Given the description of an element on the screen output the (x, y) to click on. 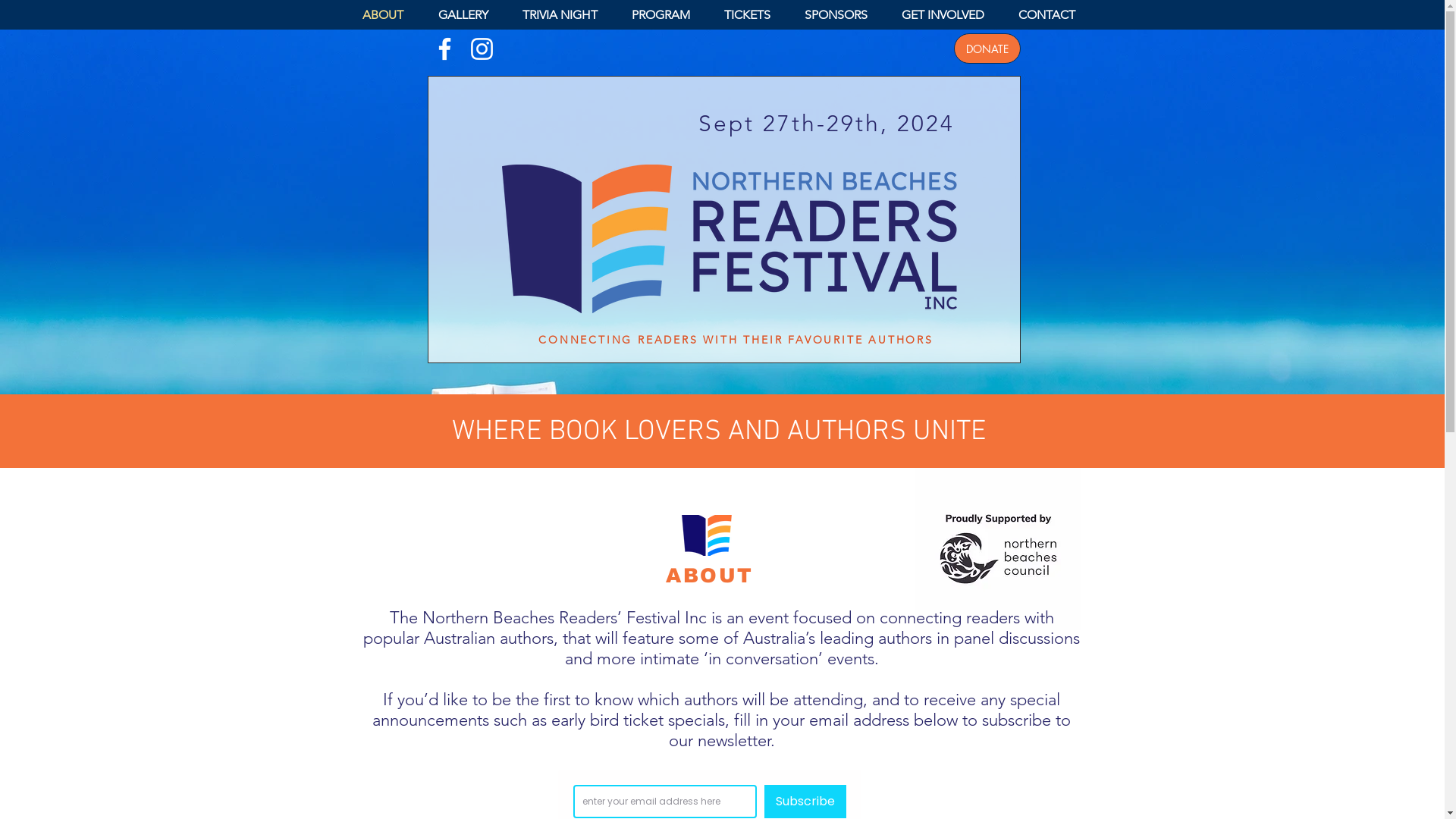
GALLERY Element type: text (468, 14)
GET INVOLVED Element type: text (948, 14)
ABOUT Element type: text (388, 14)
DONATE Element type: text (986, 48)
PROGRAM Element type: text (666, 14)
SPONSORS Element type: text (841, 14)
TRIVIA NIGHT Element type: text (565, 14)
CONTACT Element type: text (1052, 14)
TICKETS Element type: text (752, 14)
